Given the description of an element on the screen output the (x, y) to click on. 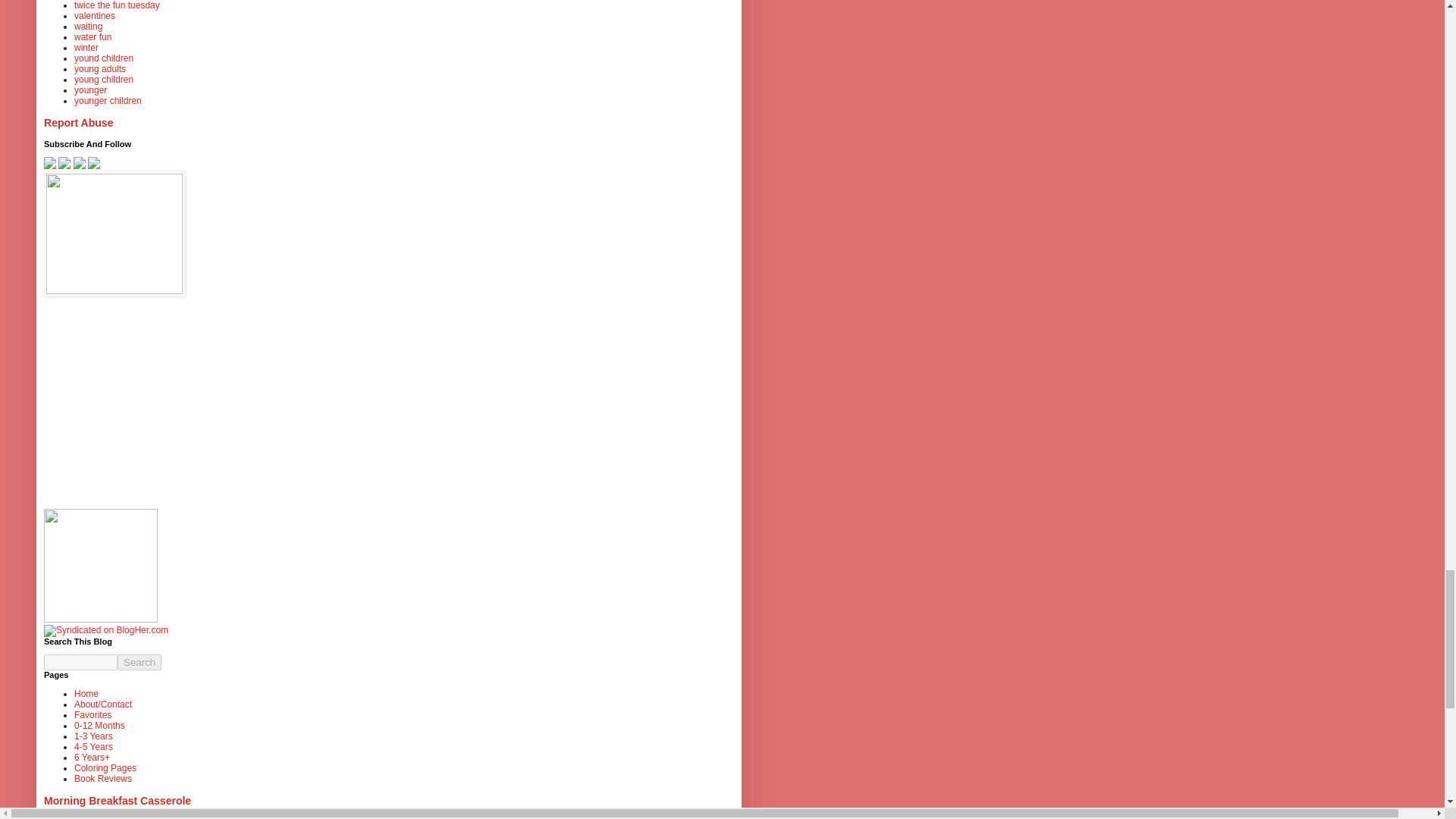
Search (139, 662)
Search (139, 662)
